Given the description of an element on the screen output the (x, y) to click on. 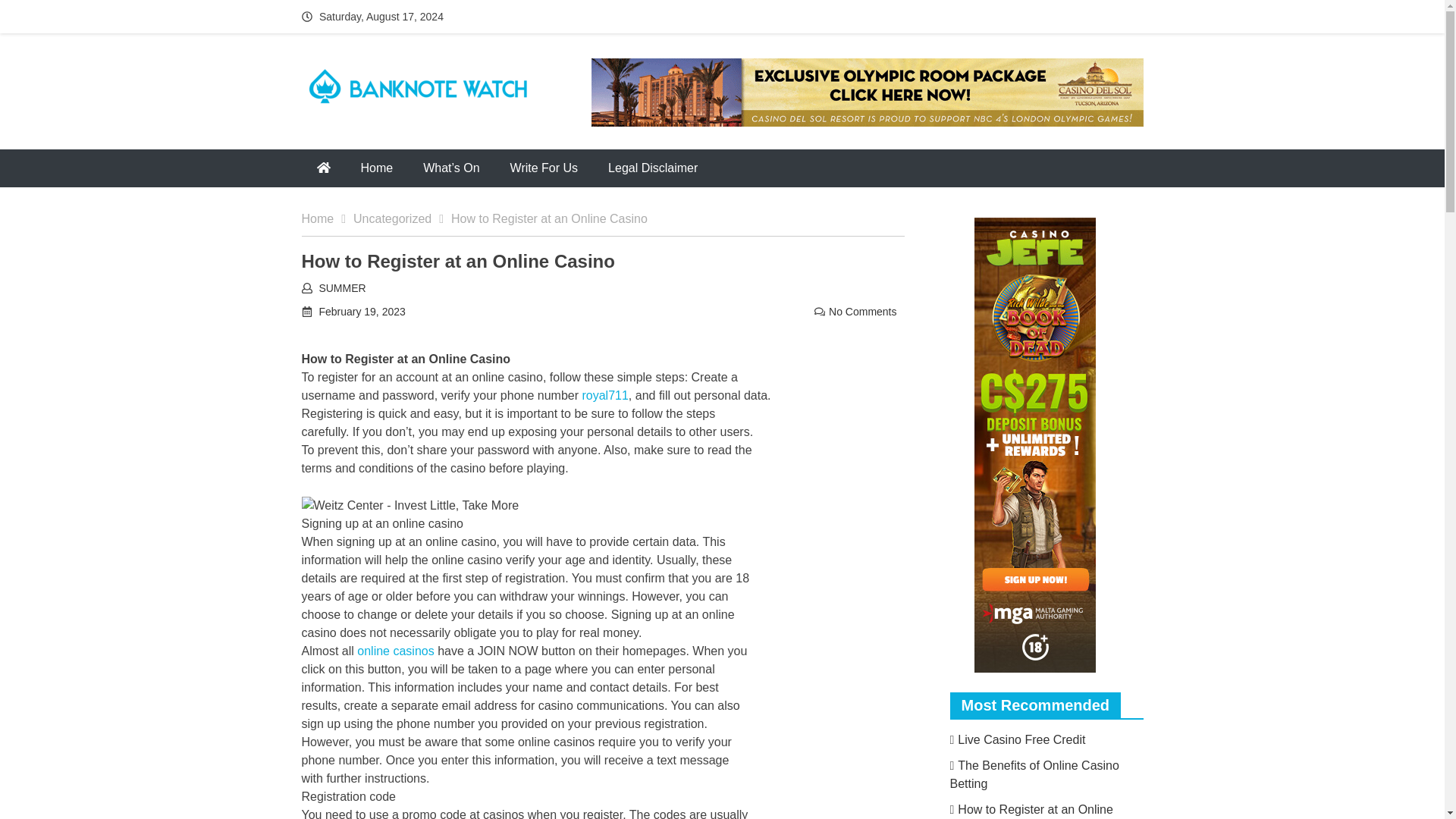
Write For Us (543, 168)
Home (327, 218)
Uncategorized (402, 218)
online casinos (394, 650)
How to Register at an Online Casino (1030, 811)
February 19, 2023 (361, 311)
royal711 (603, 395)
The Benefits of Online Casino Betting (1033, 774)
SUMMER (341, 287)
Home (377, 168)
